Given the description of an element on the screen output the (x, y) to click on. 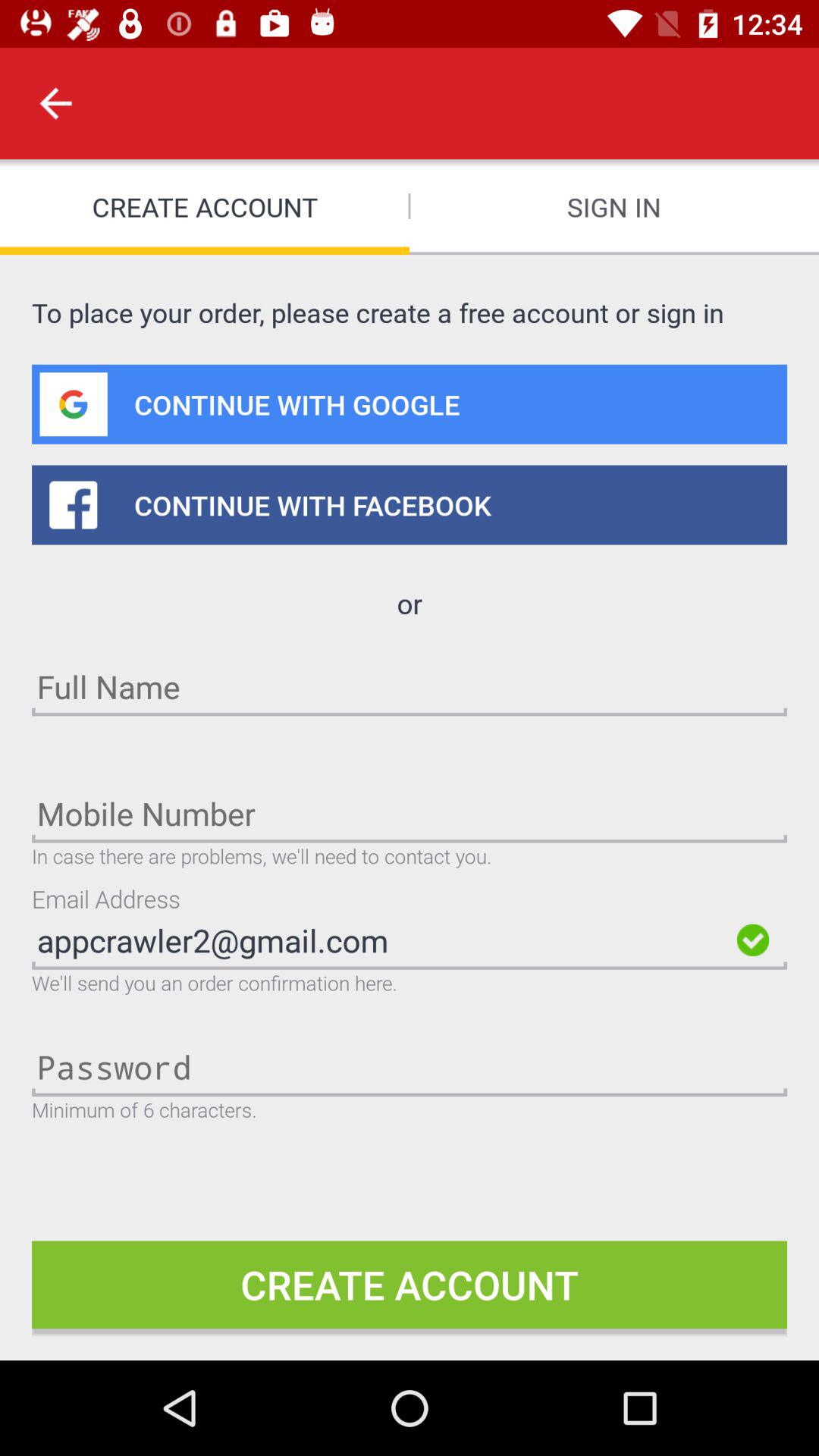
this is where you would enter in your phone number for your mobile phone (409, 812)
